Given the description of an element on the screen output the (x, y) to click on. 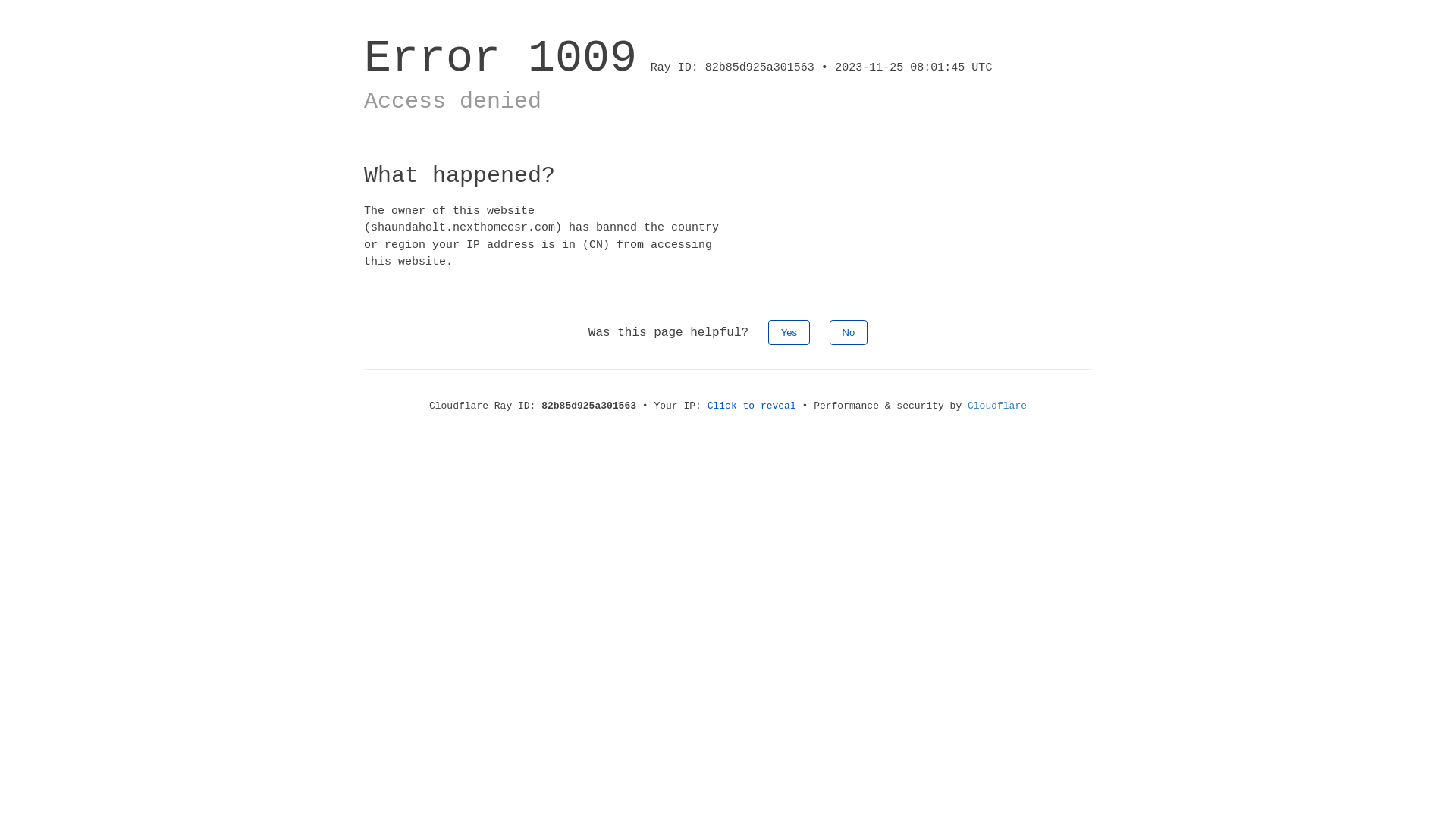
Cloudflare Element type: text (996, 405)
No Element type: text (848, 332)
Click to reveal Element type: text (751, 405)
Yes Element type: text (788, 332)
